Given the description of an element on the screen output the (x, y) to click on. 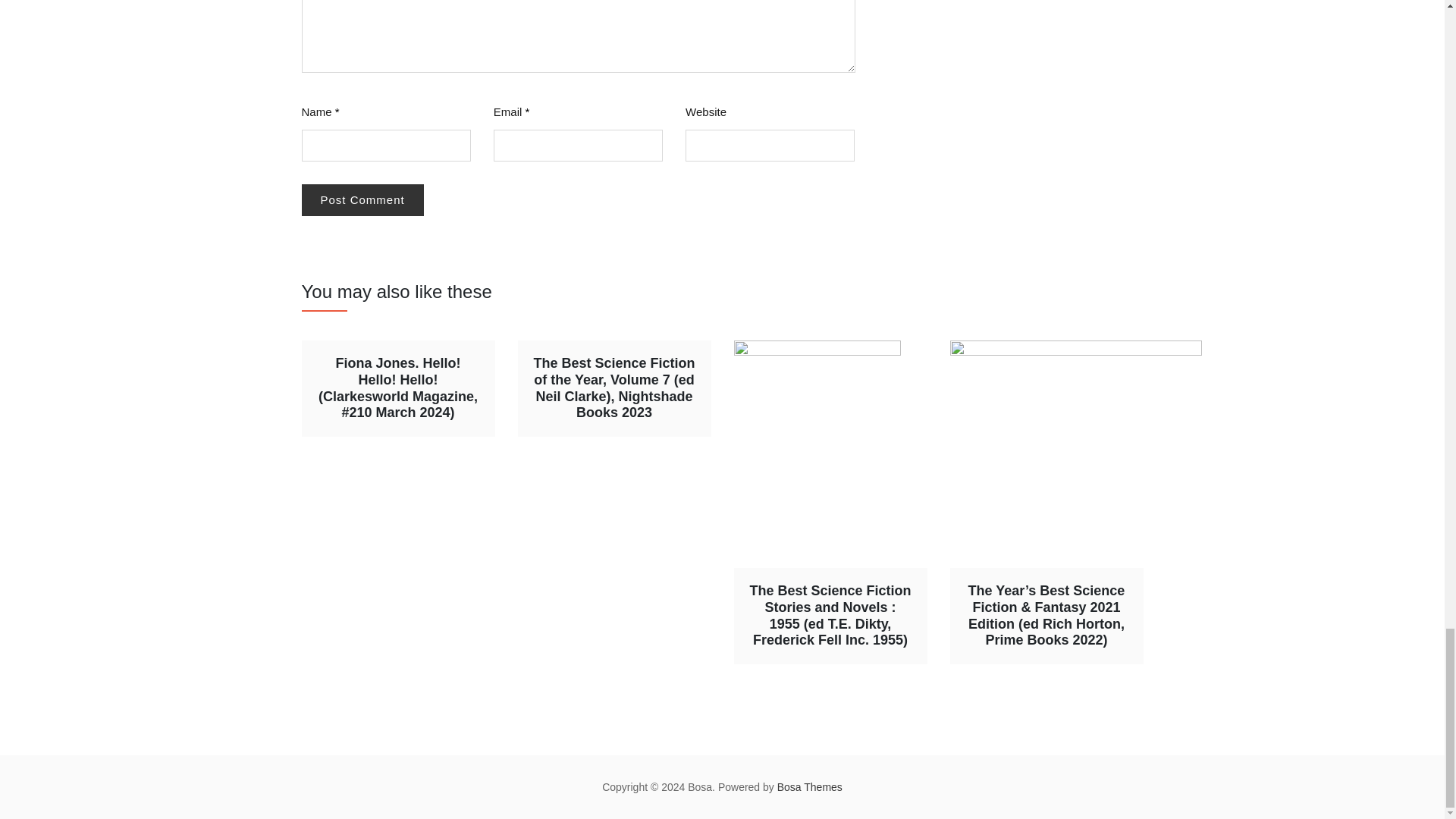
Post Comment (362, 199)
Bosa Themes (810, 787)
Post Comment (362, 199)
